Given the description of an element on the screen output the (x, y) to click on. 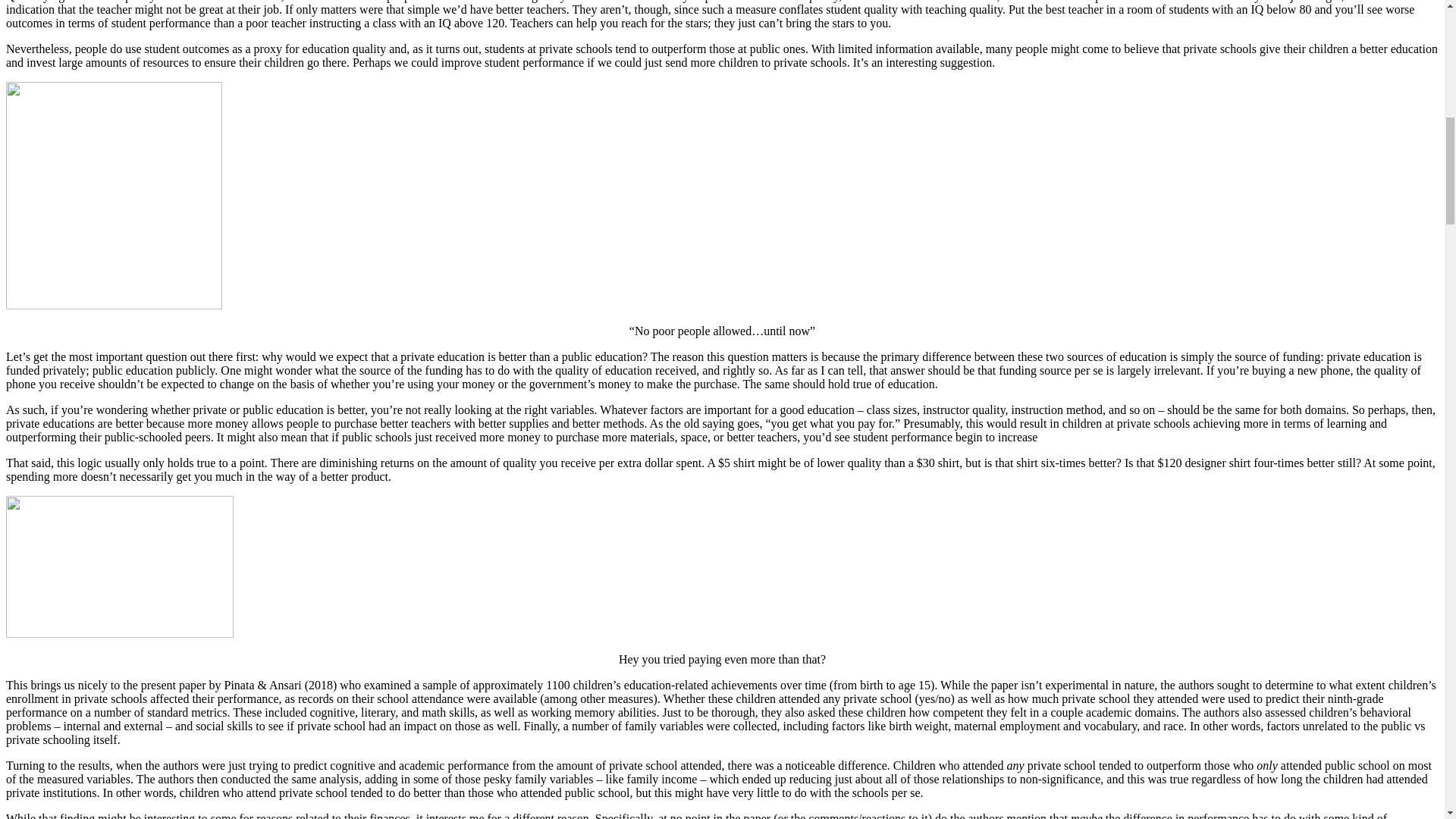
2 (113, 195)
3 (118, 567)
